Given the description of an element on the screen output the (x, y) to click on. 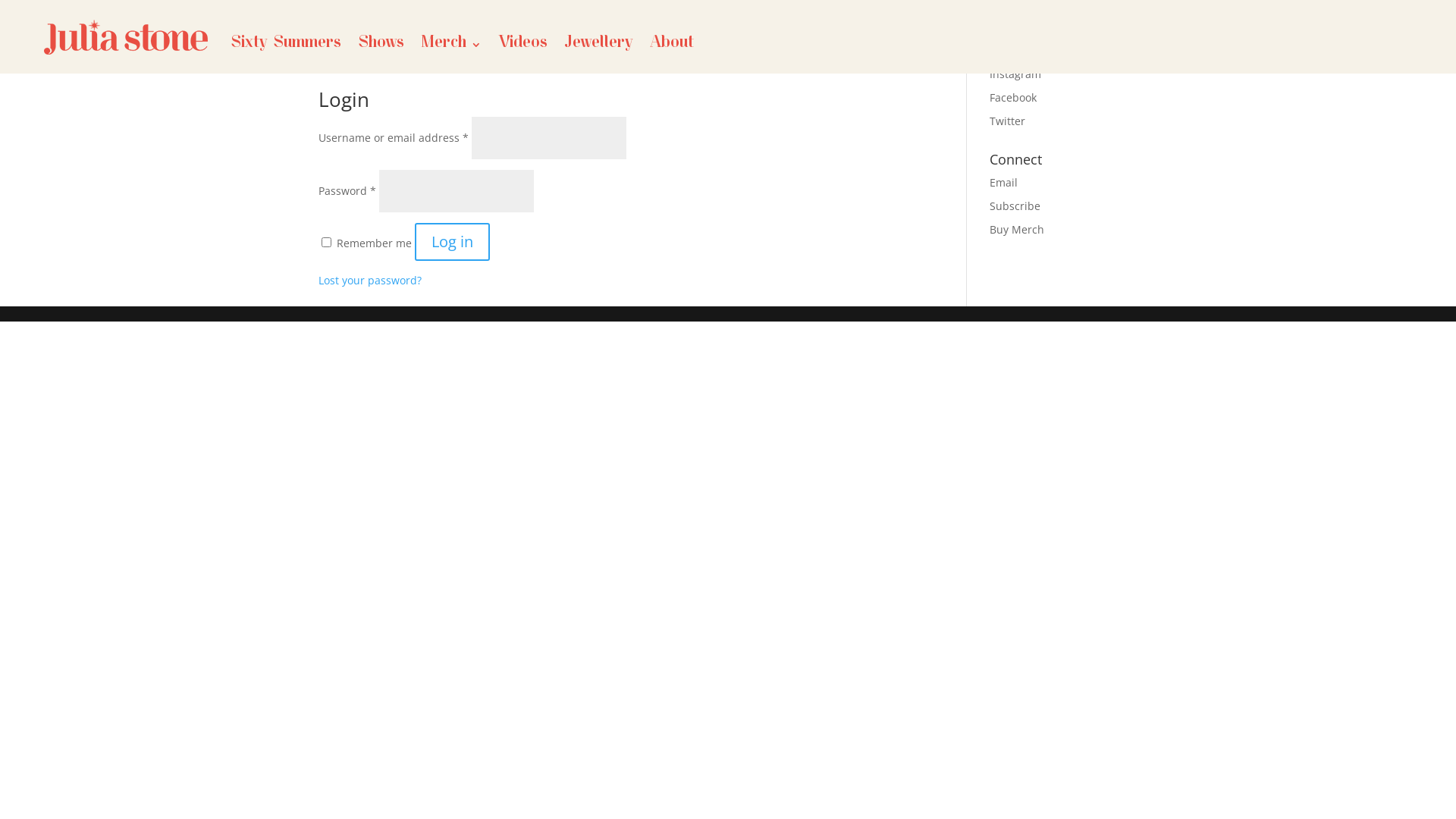
Buy Merch Element type: text (1016, 229)
Videos Element type: text (522, 44)
About Element type: text (671, 44)
Lost your password? Element type: text (369, 280)
Jewellery Element type: text (598, 44)
Log in Element type: text (451, 241)
Shows Element type: text (380, 44)
Facebook Element type: text (1012, 97)
Merch Element type: text (450, 44)
Sixty Summers Element type: text (285, 44)
Subscribe Element type: text (1014, 205)
Email Element type: text (1003, 182)
Instagram Element type: text (1015, 73)
Twitter Element type: text (1007, 120)
